Given the description of an element on the screen output the (x, y) to click on. 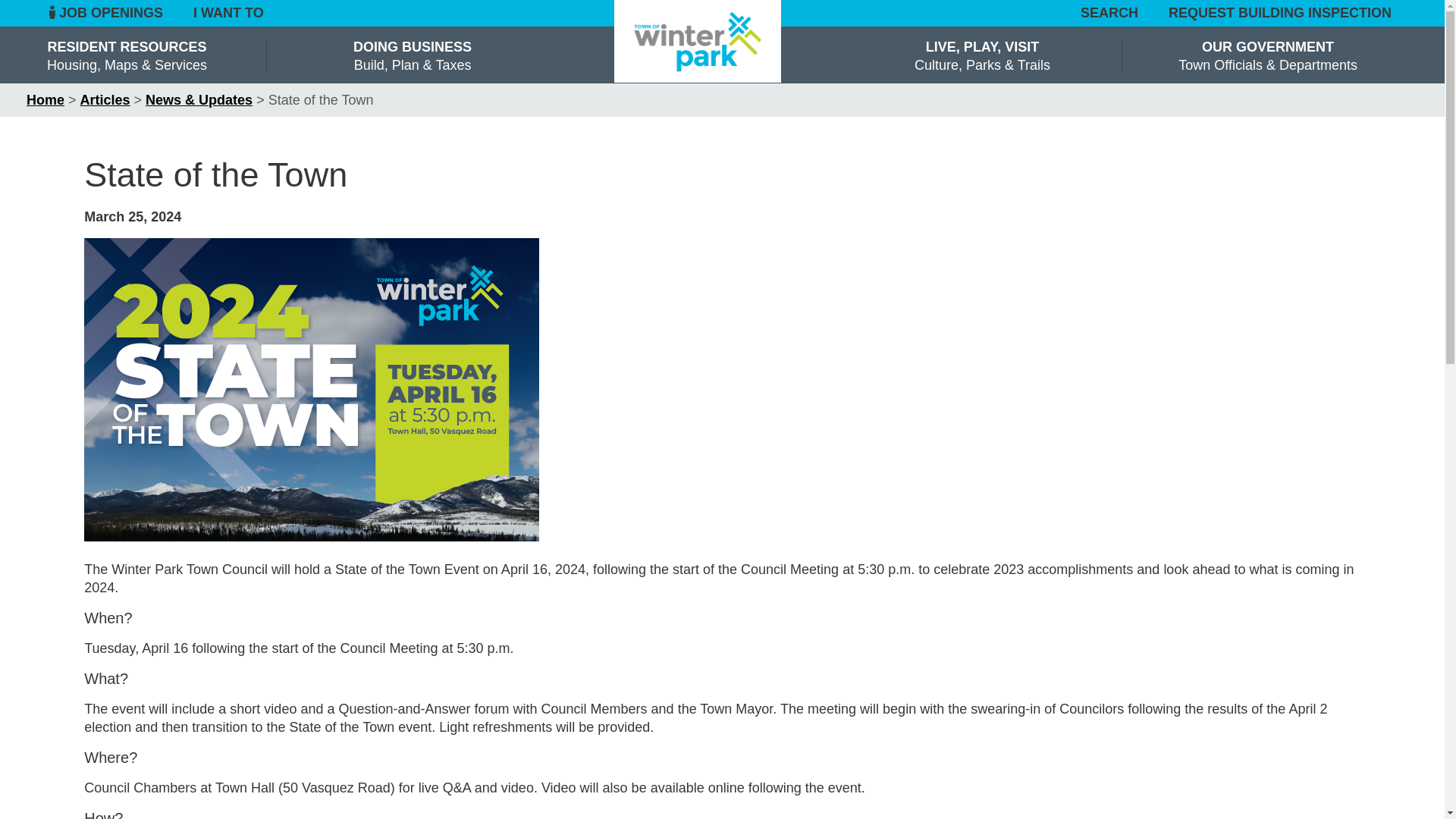
REQUEST BUILDING INSPECTION (1280, 12)
I WANT TO (228, 13)
JOB OPENINGS (107, 13)
Articles (105, 99)
SEARCH (1110, 13)
Home (45, 99)
HOME (697, 41)
